Given the description of an element on the screen output the (x, y) to click on. 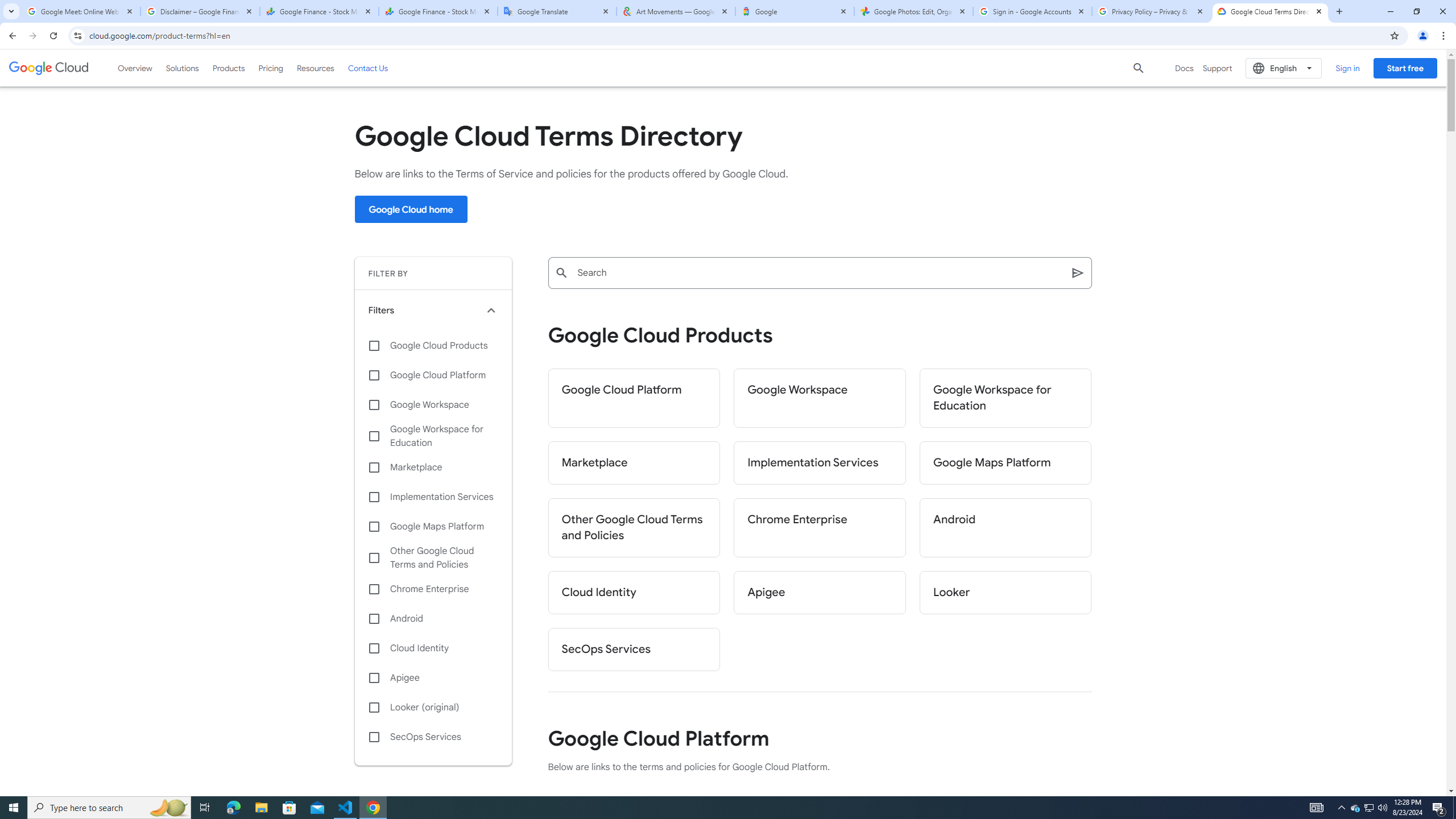
Apigee (432, 677)
Solutions (181, 67)
SecOps Services (432, 736)
Support (1216, 67)
Google Cloud home (410, 208)
